Given the description of an element on the screen output the (x, y) to click on. 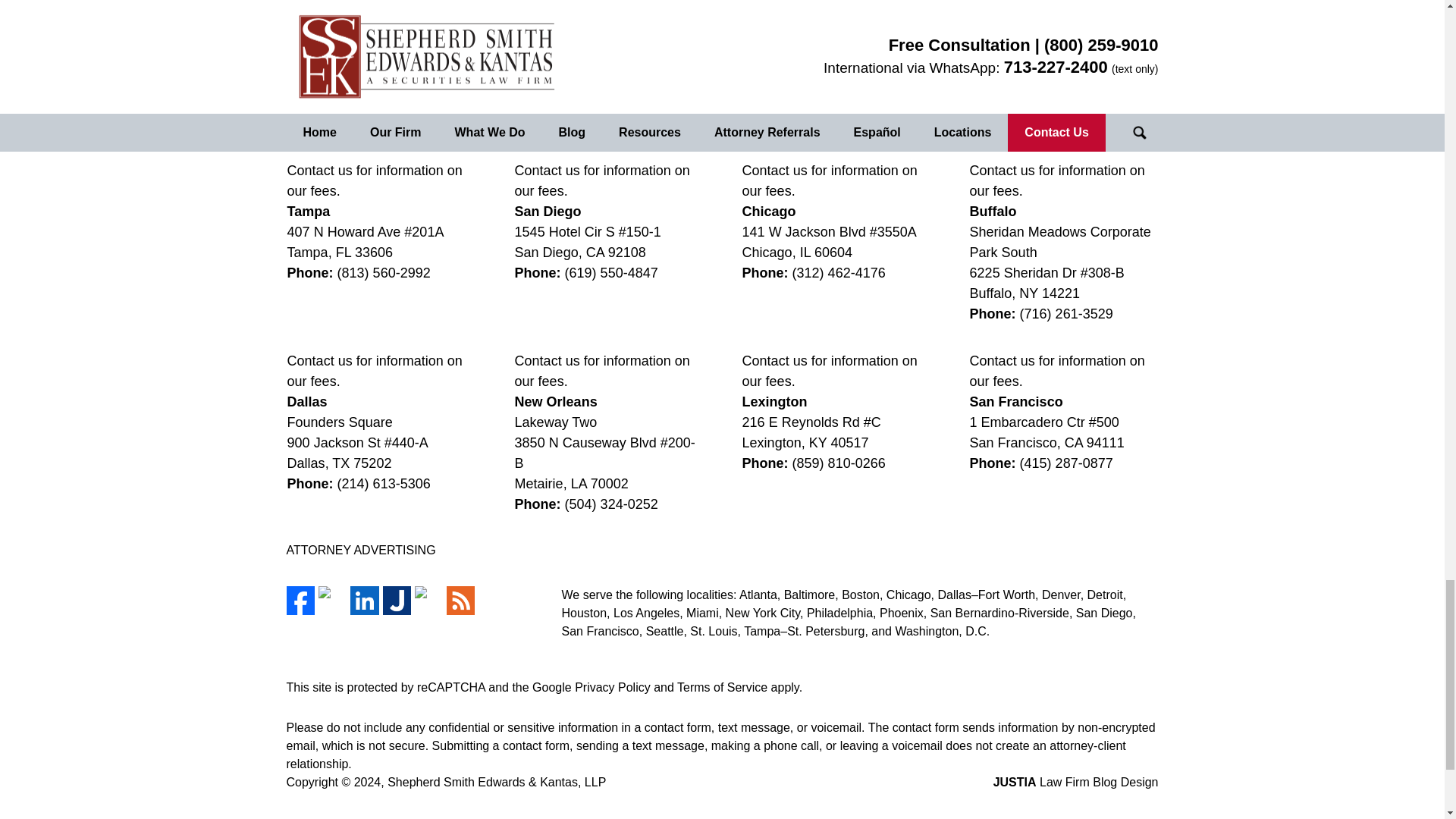
YouTube (428, 600)
Justia (395, 600)
Twitter (332, 600)
LinkedIn (364, 600)
Facebook (300, 600)
Feed (460, 600)
